Given the description of an element on the screen output the (x, y) to click on. 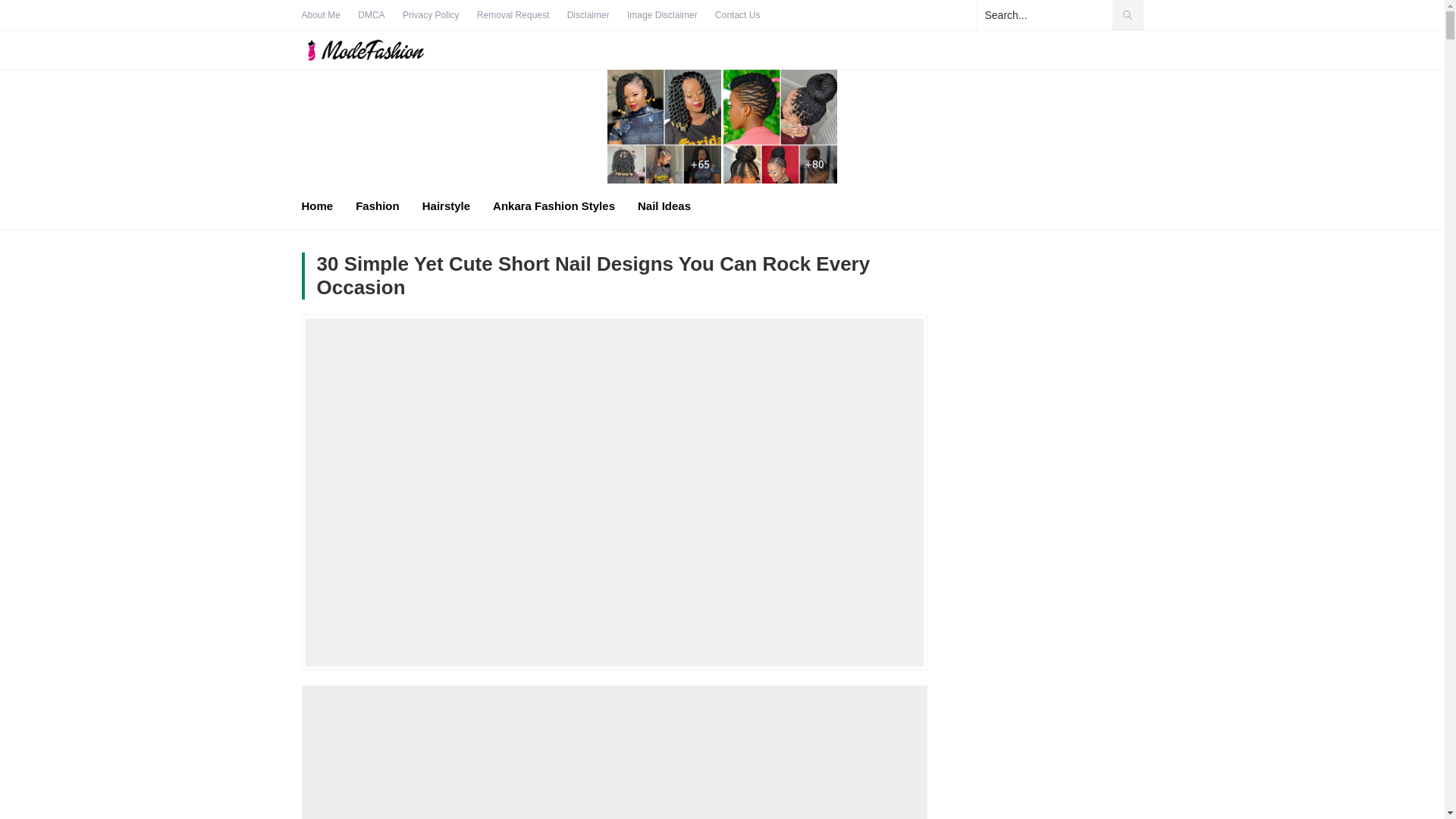
Removal Request (512, 14)
Privacy Policy (431, 14)
Search... (1058, 15)
Nail Ideas (663, 206)
Ankara Fashion Styles (553, 206)
Fashion Lifestyle Trends (381, 49)
About Me (320, 14)
Fashion (376, 206)
Contact Us (737, 14)
Image Disclaimer (662, 14)
